Given the description of an element on the screen output the (x, y) to click on. 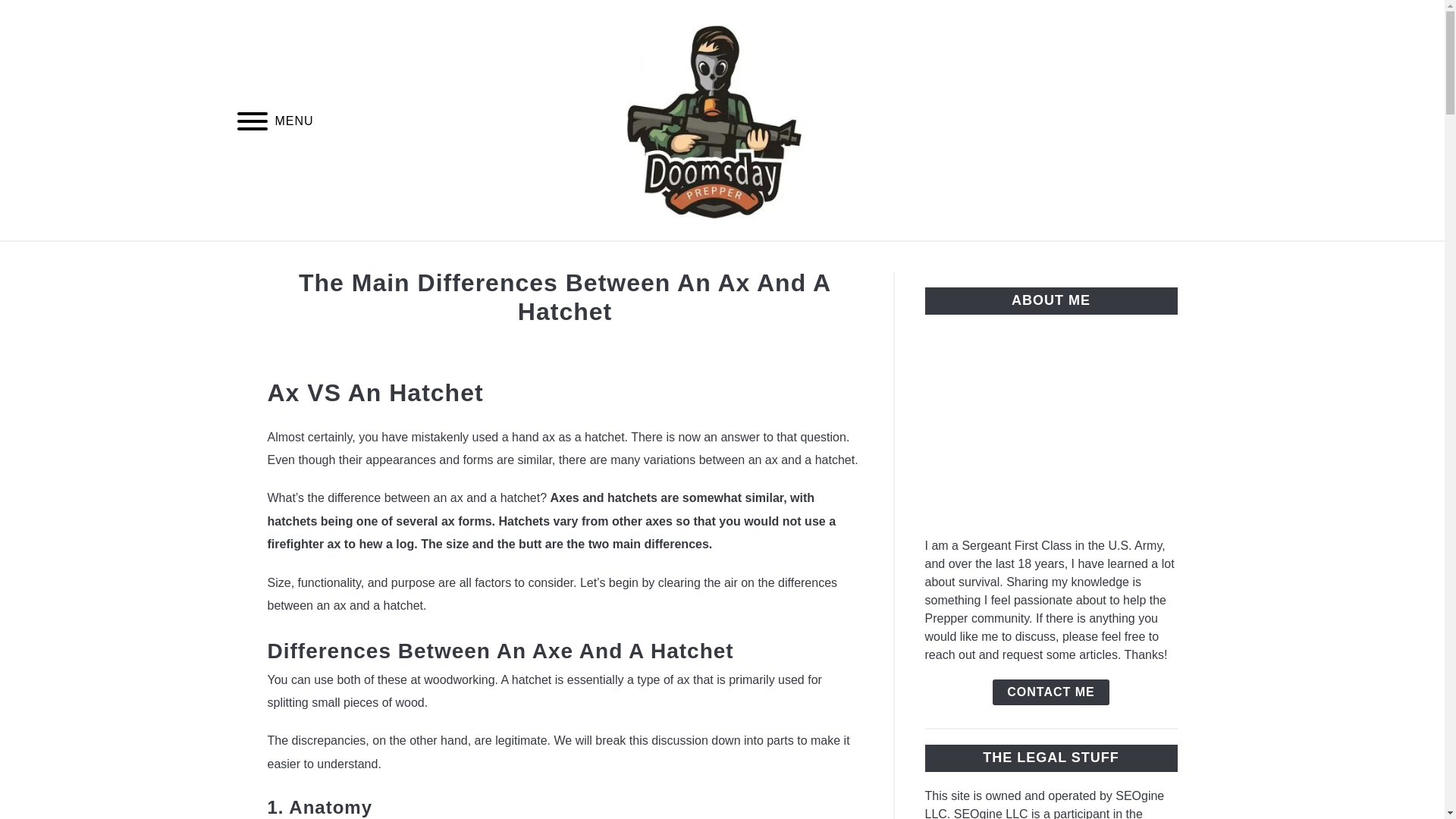
TIPS (644, 258)
EDUCATION (560, 258)
CONTACT ME (1050, 692)
FOOD (710, 258)
MENU (251, 123)
SAFETY (994, 258)
EQUIPMENT (801, 258)
Search (1203, 119)
SUPPLIES (905, 258)
DISASTER (456, 258)
